Given the description of an element on the screen output the (x, y) to click on. 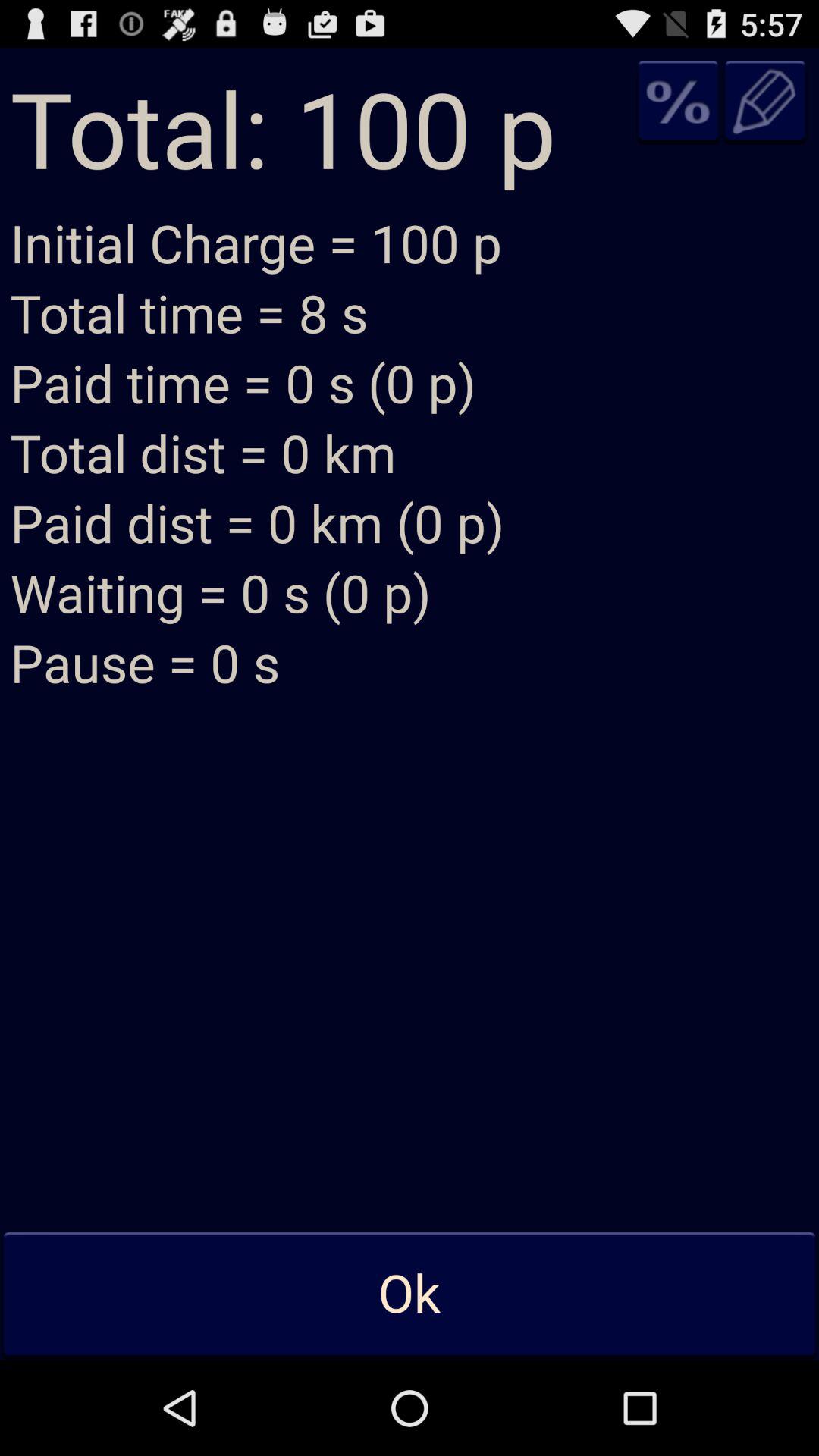
edit icon (764, 101)
